Given the description of an element on the screen output the (x, y) to click on. 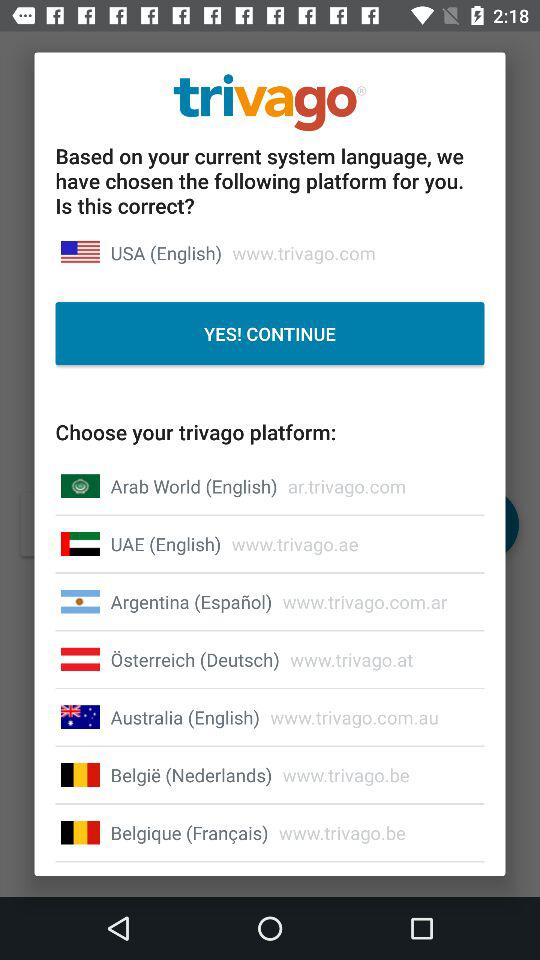
choose item above uae (english) icon (193, 486)
